Given the description of an element on the screen output the (x, y) to click on. 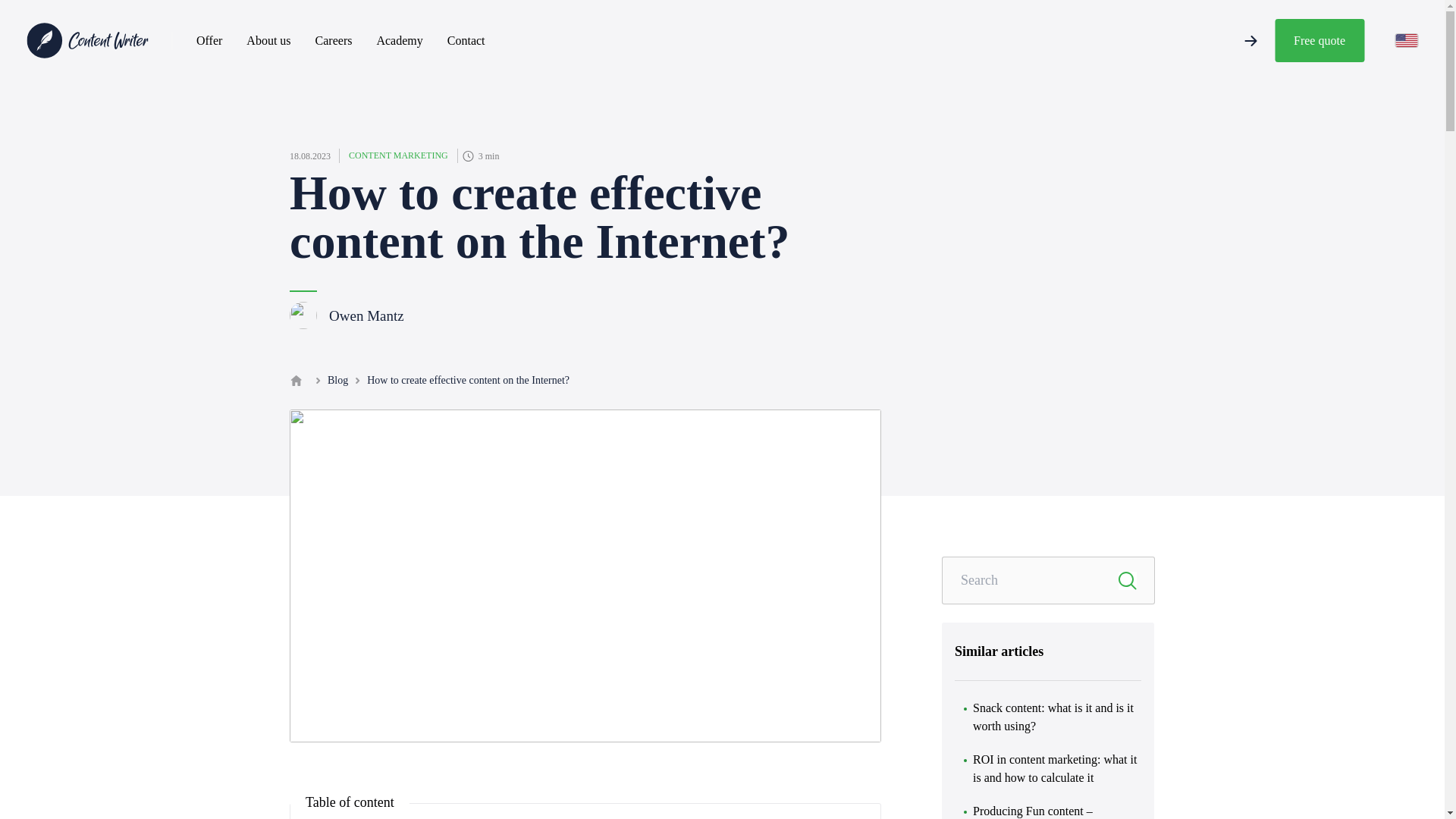
Careers (333, 40)
Academy (398, 40)
About us (267, 40)
Contact (465, 40)
Offer (209, 40)
Free quote (1319, 40)
